Given the description of an element on the screen output the (x, y) to click on. 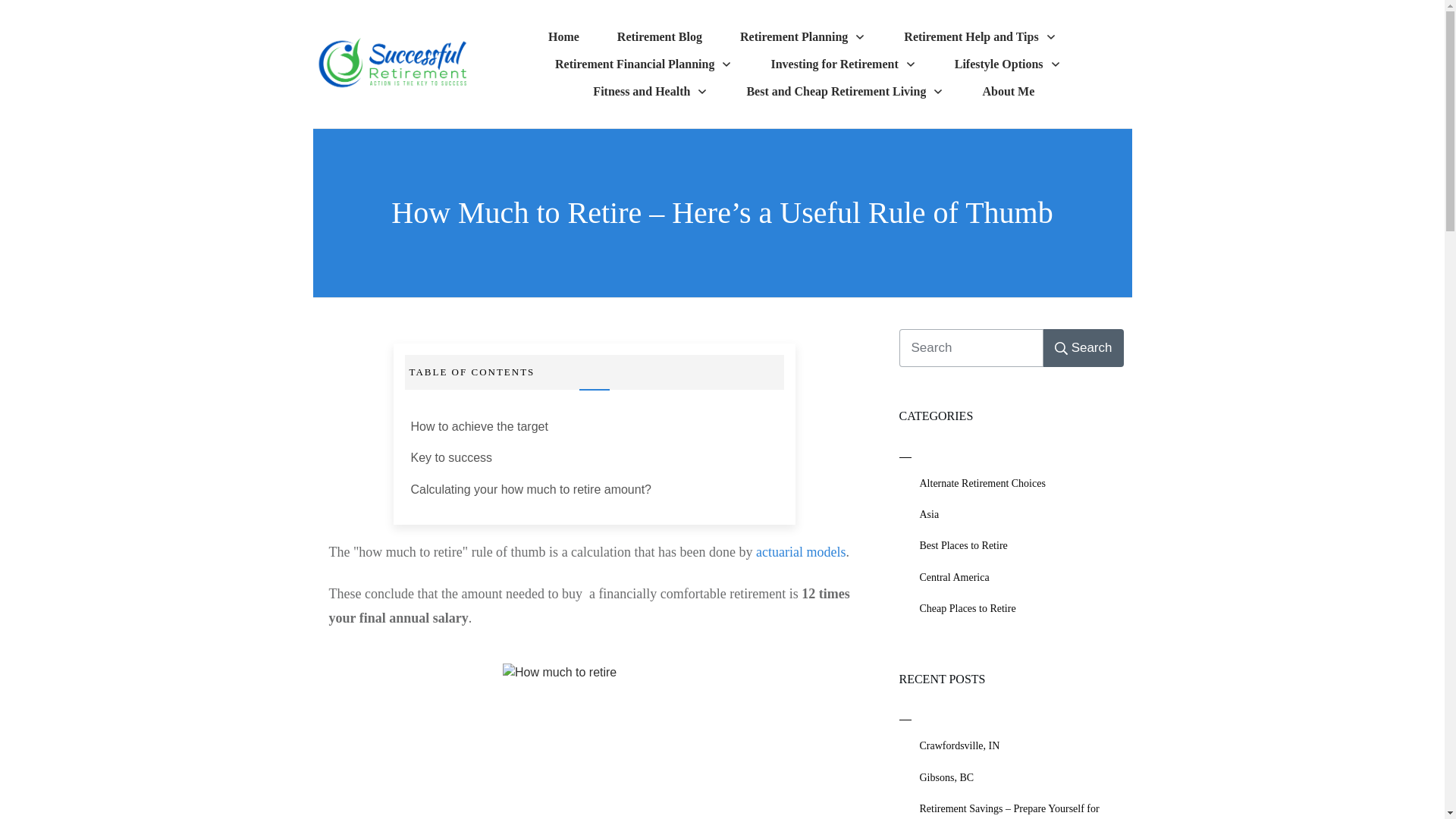
Nest Egg (593, 741)
Retirement Help and Tips (980, 37)
Calculating your how much to retire amount? (531, 489)
How to achieve the target  (480, 426)
Key to success (451, 457)
Retirement Blog (659, 37)
Home (563, 37)
Retirement Planning (802, 37)
Retirement Financial Planning (643, 64)
